Given the description of an element on the screen output the (x, y) to click on. 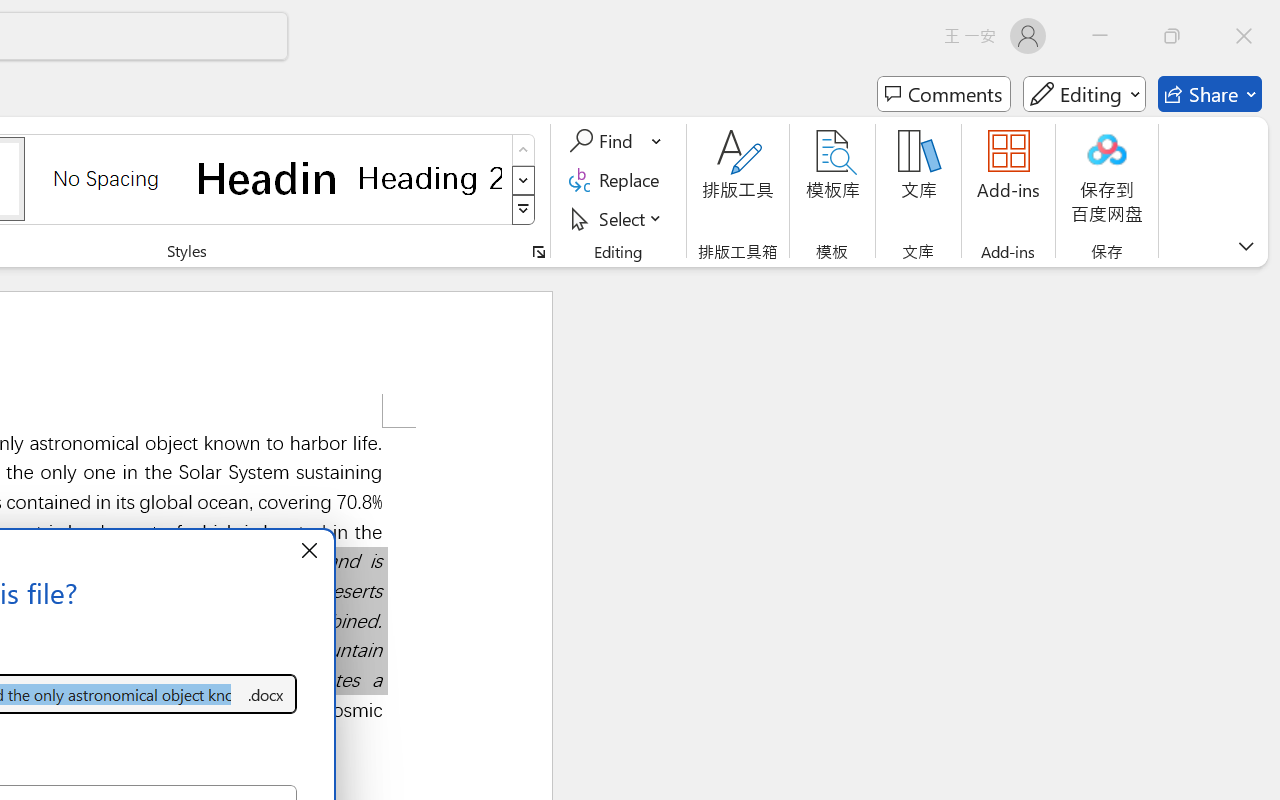
Styles (523, 209)
Save as type (265, 694)
